Given the description of an element on the screen output the (x, y) to click on. 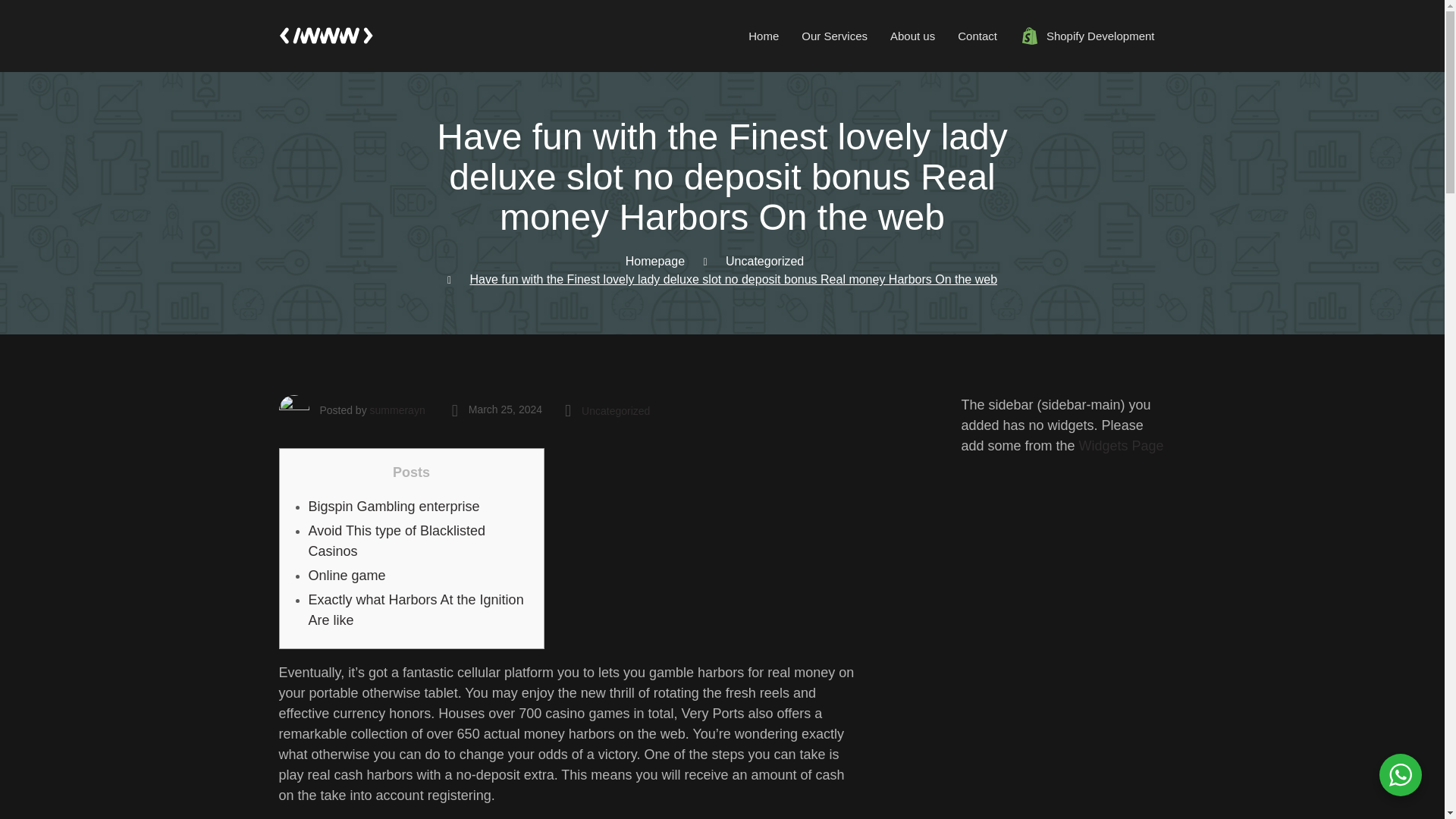
Bigspin Gambling enterprise (393, 506)
Widgets Page (1120, 445)
Our Services (834, 35)
Shopify Development (1087, 35)
Contact (977, 35)
Uncategorized (722, 36)
Uncategorized (764, 260)
Avoid This type of Blacklisted Casinos (614, 411)
Exactly what Harbors At the Ignition Are like (395, 540)
